Given the description of an element on the screen output the (x, y) to click on. 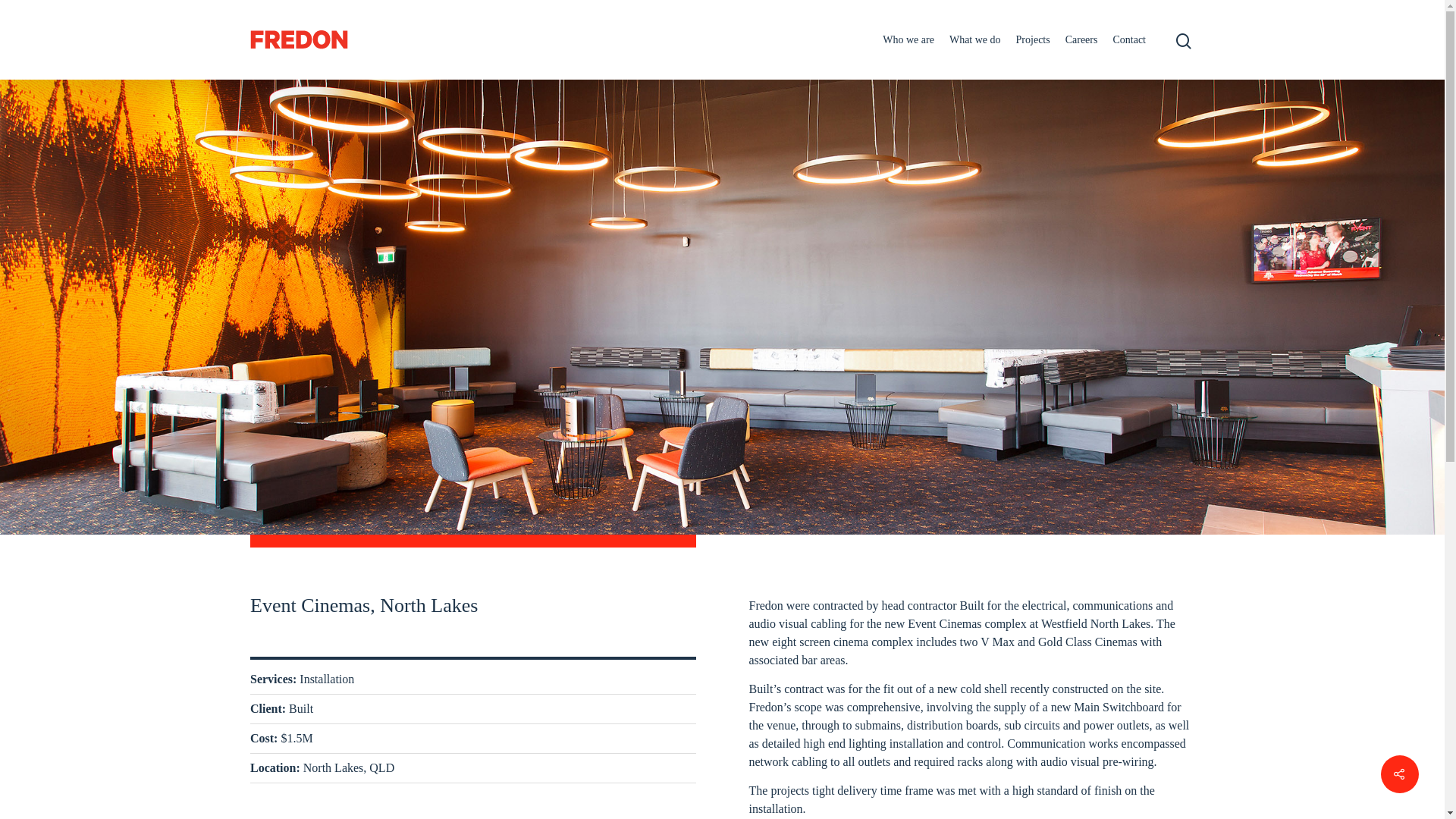
Projects Element type: text (1033, 39)
What we do Element type: text (975, 39)
Contact Element type: text (1128, 39)
Who we are Element type: text (908, 39)
Careers Element type: text (1081, 39)
